Given the description of an element on the screen output the (x, y) to click on. 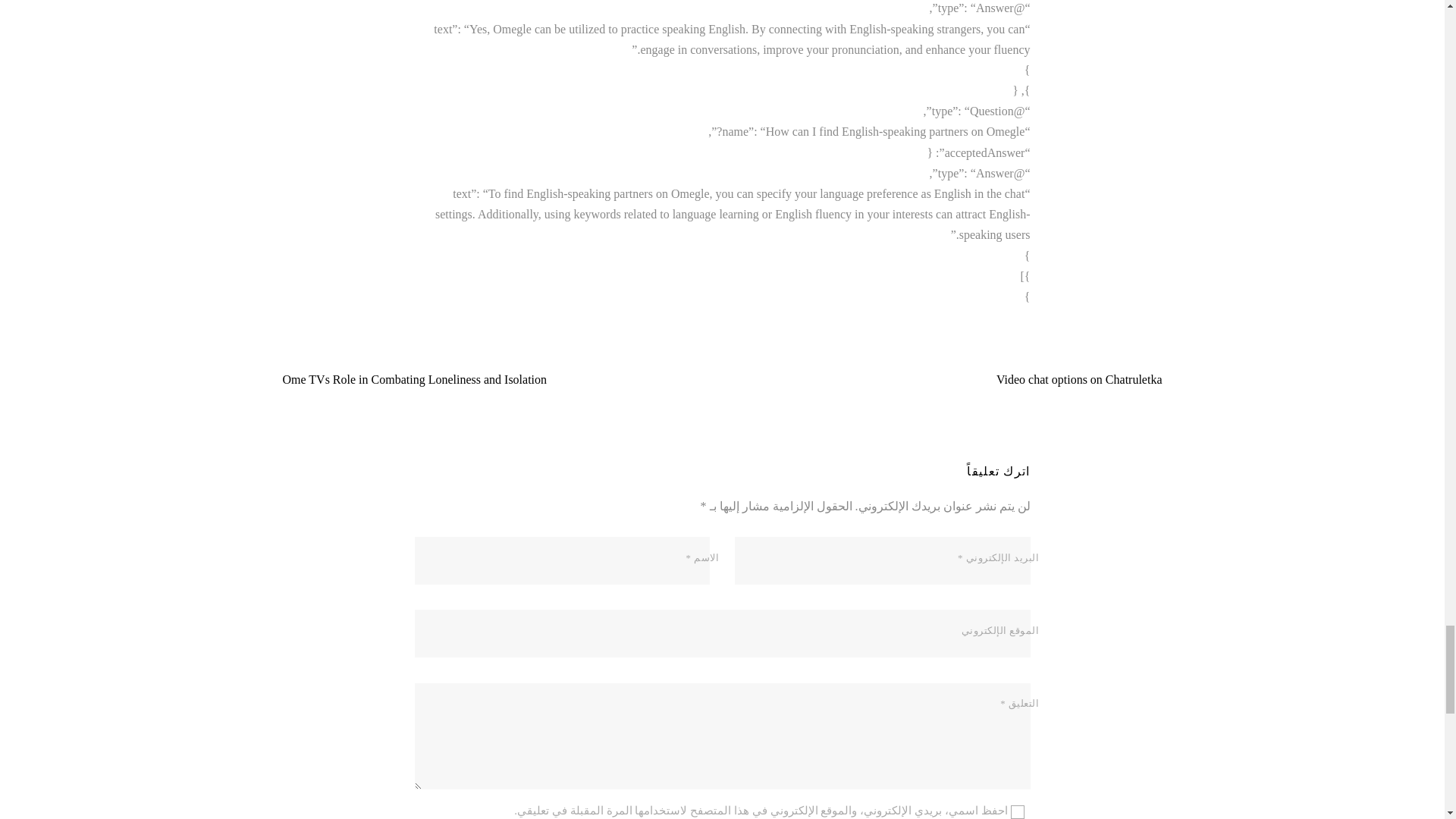
Video chat options on Chatruletka (1051, 378)
Ome TVs Role in Combating Loneliness and Isolation (441, 378)
yes (1016, 812)
